Given the description of an element on the screen output the (x, y) to click on. 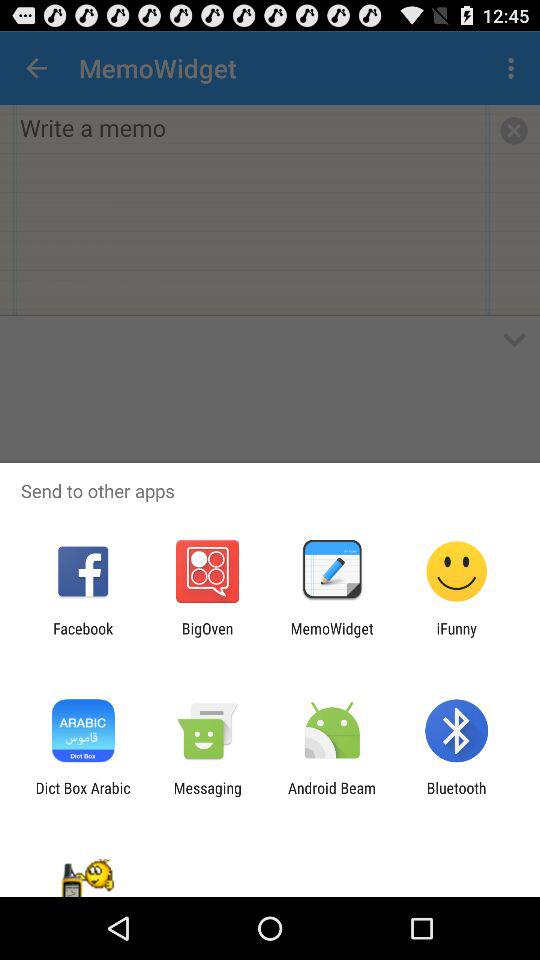
launch the item next to the ifunny icon (331, 637)
